Given the description of an element on the screen output the (x, y) to click on. 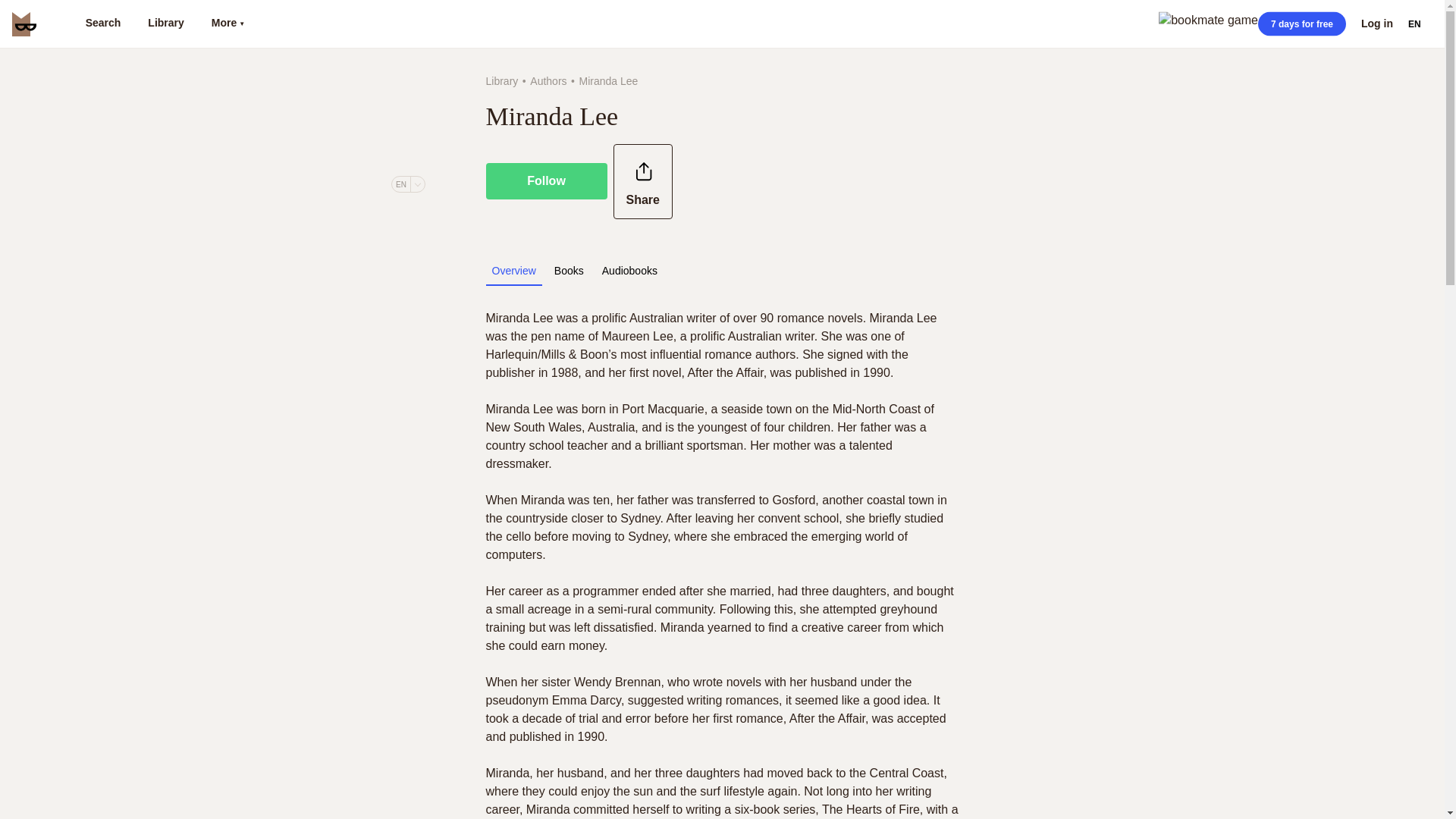
Follow (545, 180)
OverviewBooksAudiobooks (576, 270)
OverviewBooksAudiobooks (721, 274)
Library (501, 80)
Overview (512, 270)
Audiobooks (629, 270)
7 days for free (1301, 23)
Books (568, 270)
